Given the description of an element on the screen output the (x, y) to click on. 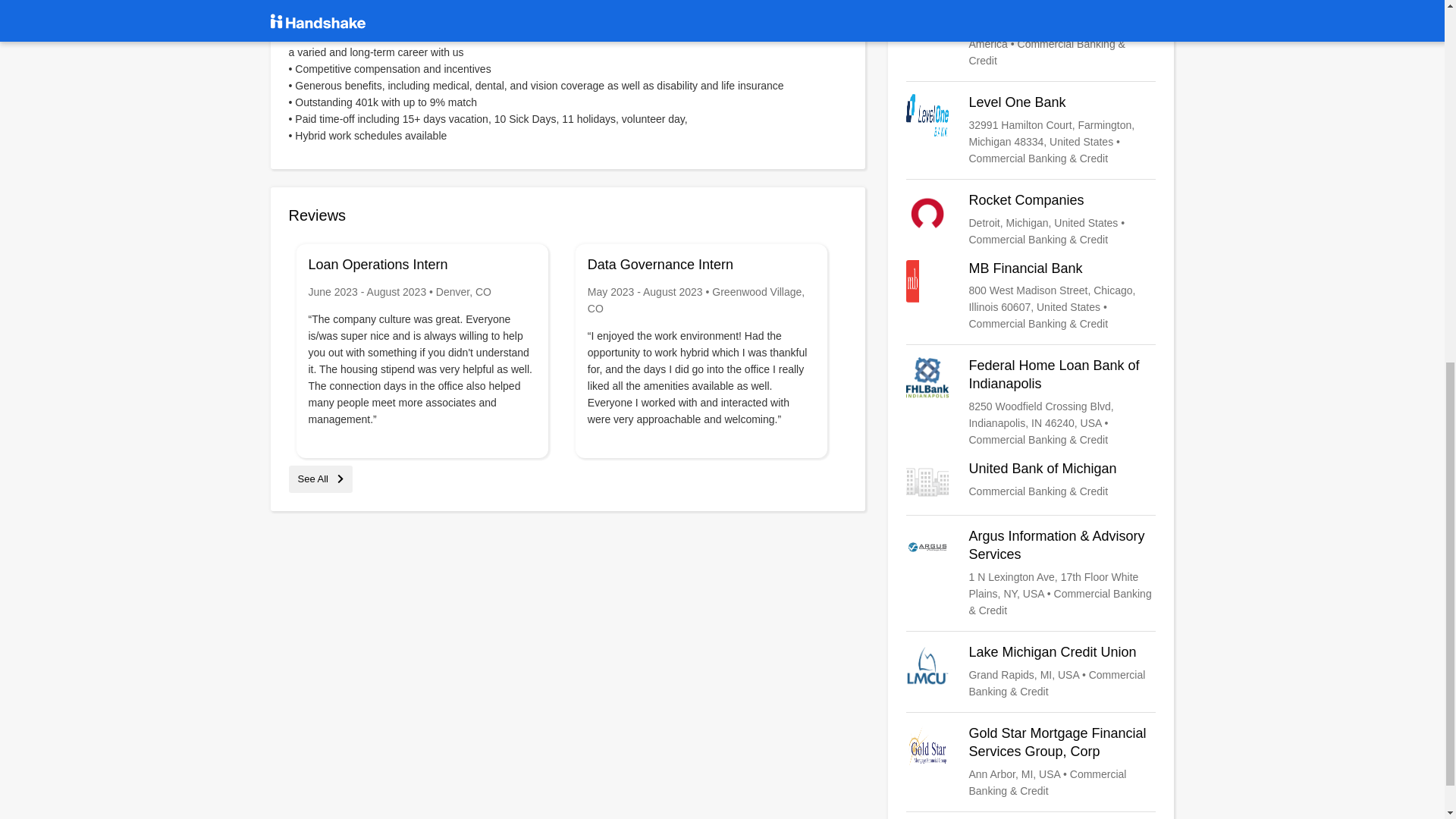
Federal Home Loan Bank of Indianapolis (1030, 402)
See All (320, 478)
Level One Bank (1030, 130)
United Bank of Michigan (1030, 481)
Lake Michigan Credit Union (1030, 671)
1st Source Bank (1030, 34)
Rocket Companies (1030, 219)
Gold Star Mortgage Financial Services Group, Corp (1030, 761)
MB Financial Bank (1030, 296)
